Given the description of an element on the screen output the (x, y) to click on. 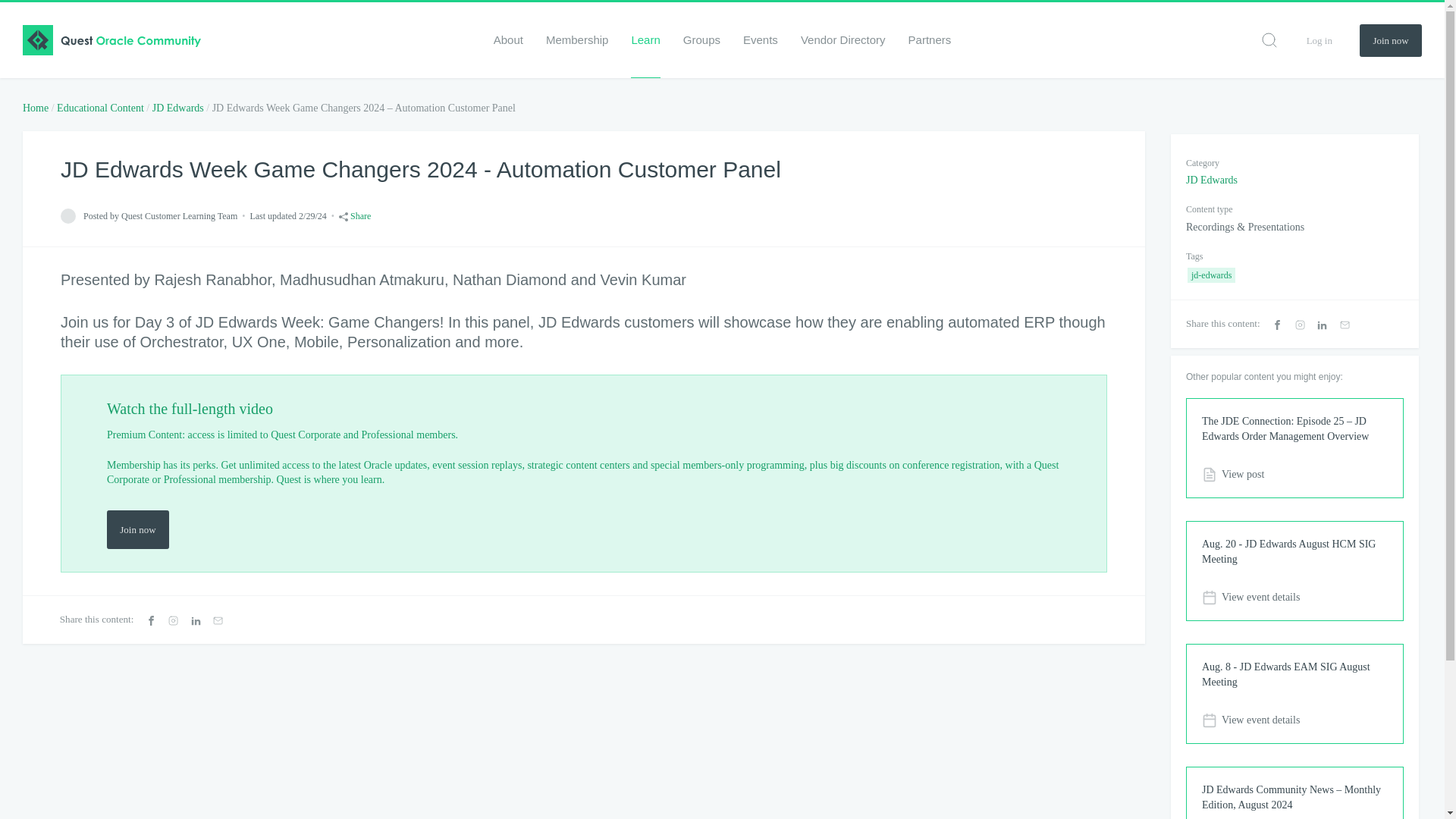
Educational Content (100, 107)
Learn (644, 39)
Share (355, 215)
Home (35, 107)
Partners (930, 39)
Membership (577, 39)
Quest Oracle Community (111, 40)
Join now (137, 529)
Quest Oracle Community (111, 40)
Quest Customer Learning Team (68, 215)
jd-edwards (1211, 274)
Join now (1390, 40)
About (507, 39)
Log in (1318, 39)
Vendor Directory (842, 39)
